Given the description of an element on the screen output the (x, y) to click on. 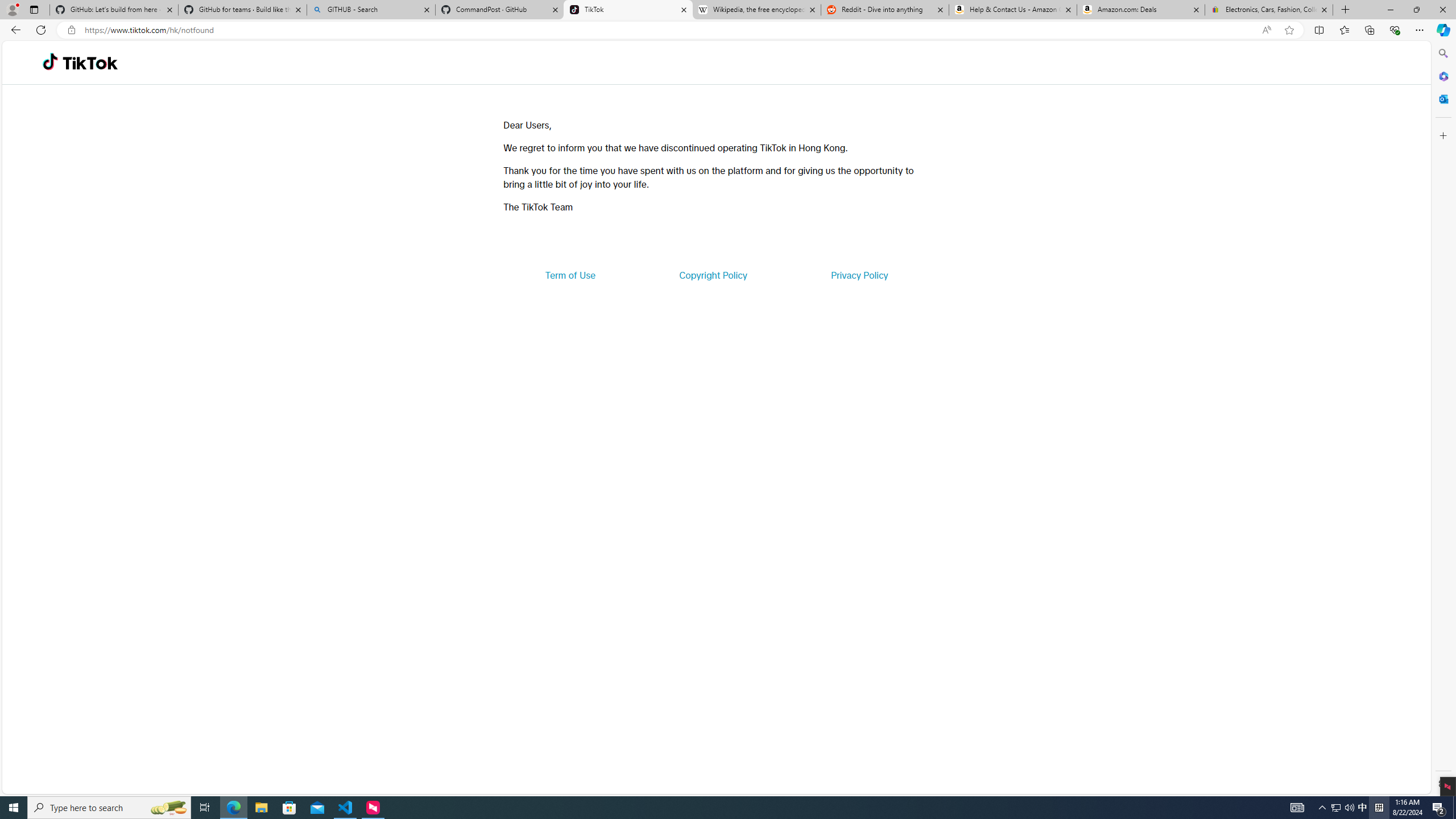
Copyright Policy (712, 274)
Wikipedia, the free encyclopedia (756, 9)
View site information (70, 29)
Favorites (1344, 29)
Collections (1369, 29)
Reddit - Dive into anything (884, 9)
Browser essentials (1394, 29)
Minimize (1390, 9)
Settings and more (Alt+F) (1419, 29)
Refresh (40, 29)
Address and search bar (669, 29)
TikTok (89, 62)
Add this page to favorites (Ctrl+D) (1289, 29)
